Given the description of an element on the screen output the (x, y) to click on. 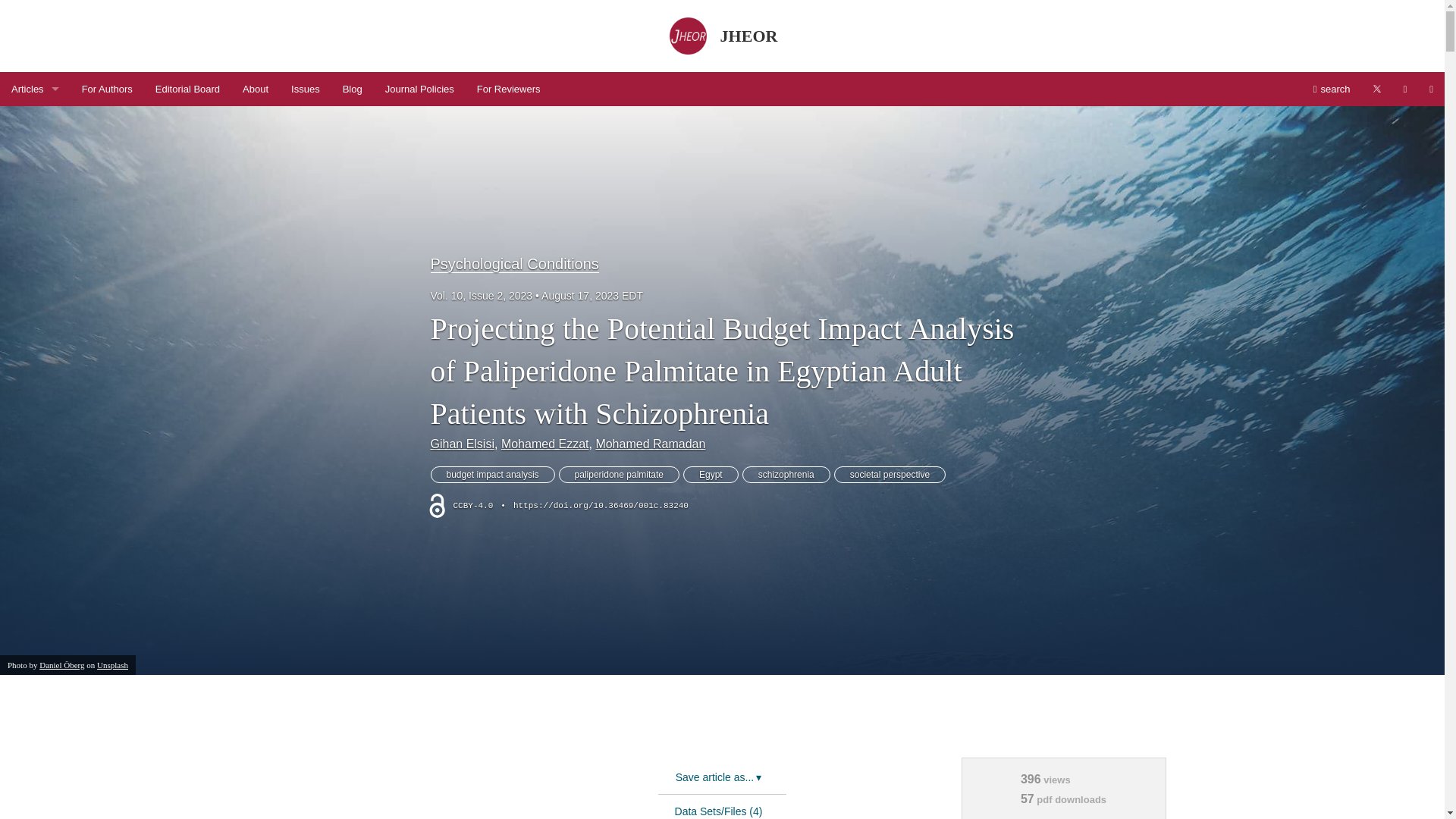
Oncology (29, 668)
Perspective (29, 771)
JHEOR (721, 35)
Infectious Diseases (29, 532)
Gastrointestinal Conditions (29, 396)
Other Conditions (29, 737)
Author Correction (29, 123)
Ophthalmology (29, 703)
Dermatological Diseases (29, 327)
Commentary (29, 259)
Blog (352, 89)
For Reviewers (508, 89)
Editorial Board (187, 89)
Journal Policies (419, 89)
Correspondence (29, 293)
